Given the description of an element on the screen output the (x, y) to click on. 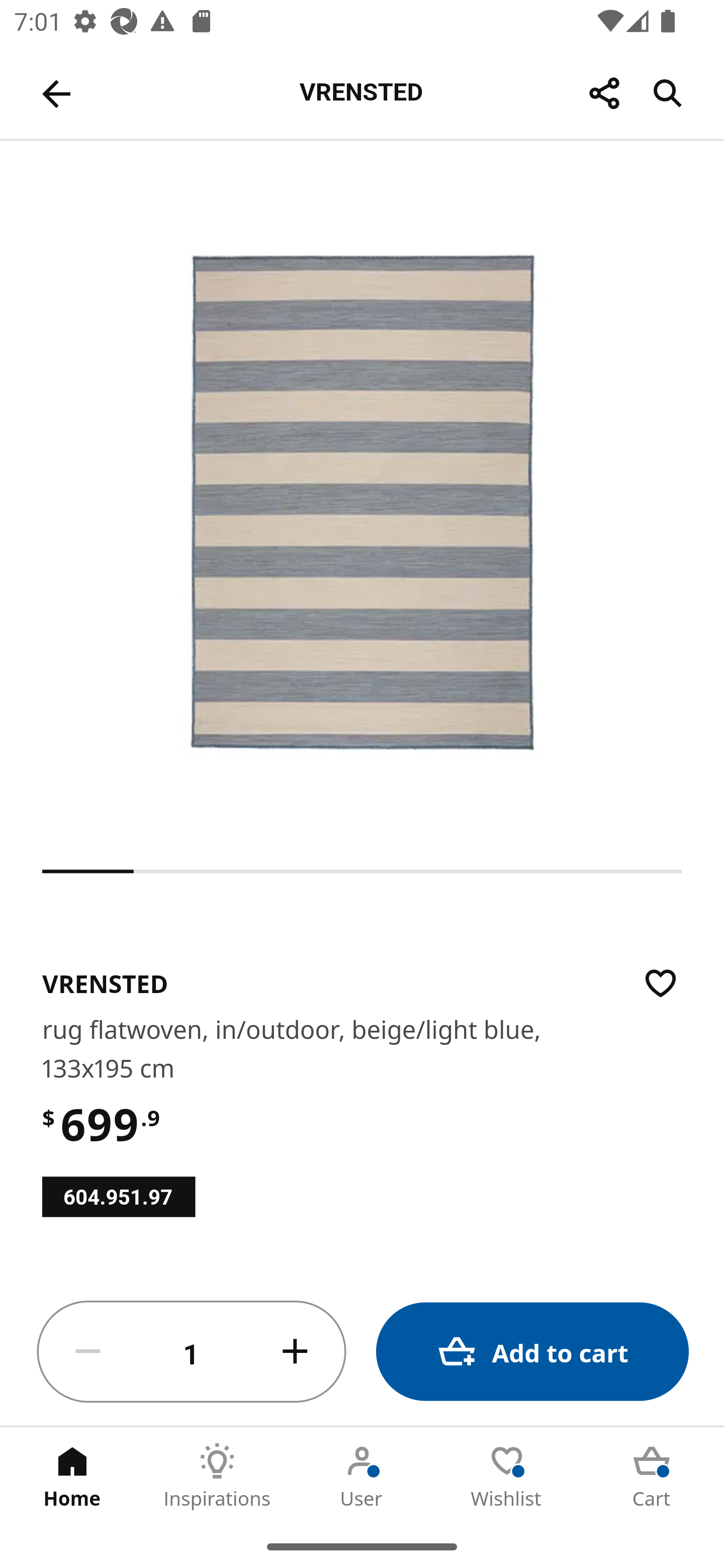
Add to cart (531, 1352)
1 (191, 1352)
Home
Tab 1 of 5 (72, 1476)
Inspirations
Tab 2 of 5 (216, 1476)
User
Tab 3 of 5 (361, 1476)
Wishlist
Tab 4 of 5 (506, 1476)
Cart
Tab 5 of 5 (651, 1476)
